Given the description of an element on the screen output the (x, y) to click on. 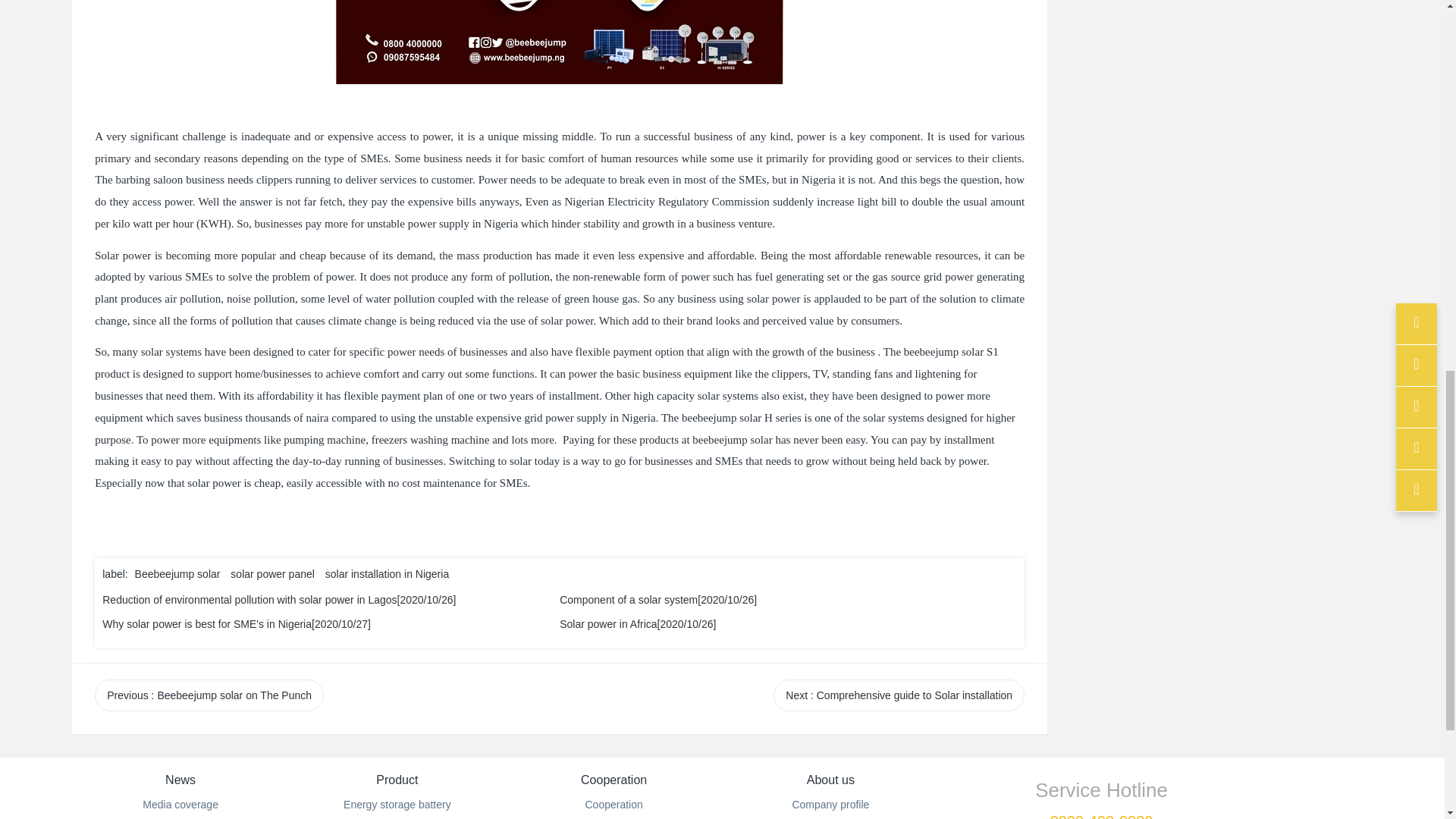
Beebeejump solar (179, 573)
solar power panel (273, 573)
Previous : Beebeejump solar on The Punch (208, 695)
Next : Comprehensive guide to Solar installation (899, 695)
solar installation in Nigeria (386, 573)
